Given the description of an element on the screen output the (x, y) to click on. 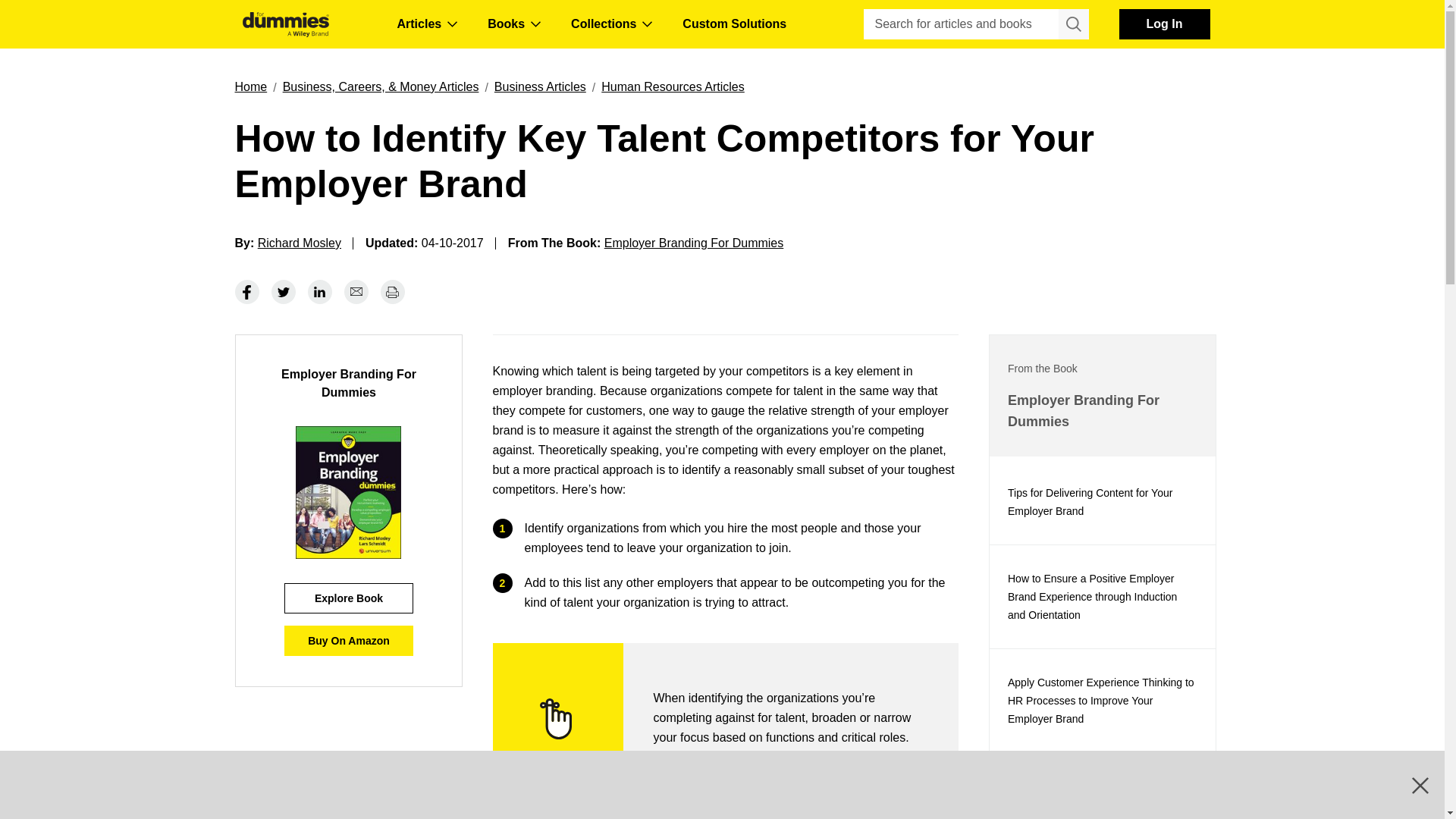
Custom Solutions (734, 24)
